Given the description of an element on the screen output the (x, y) to click on. 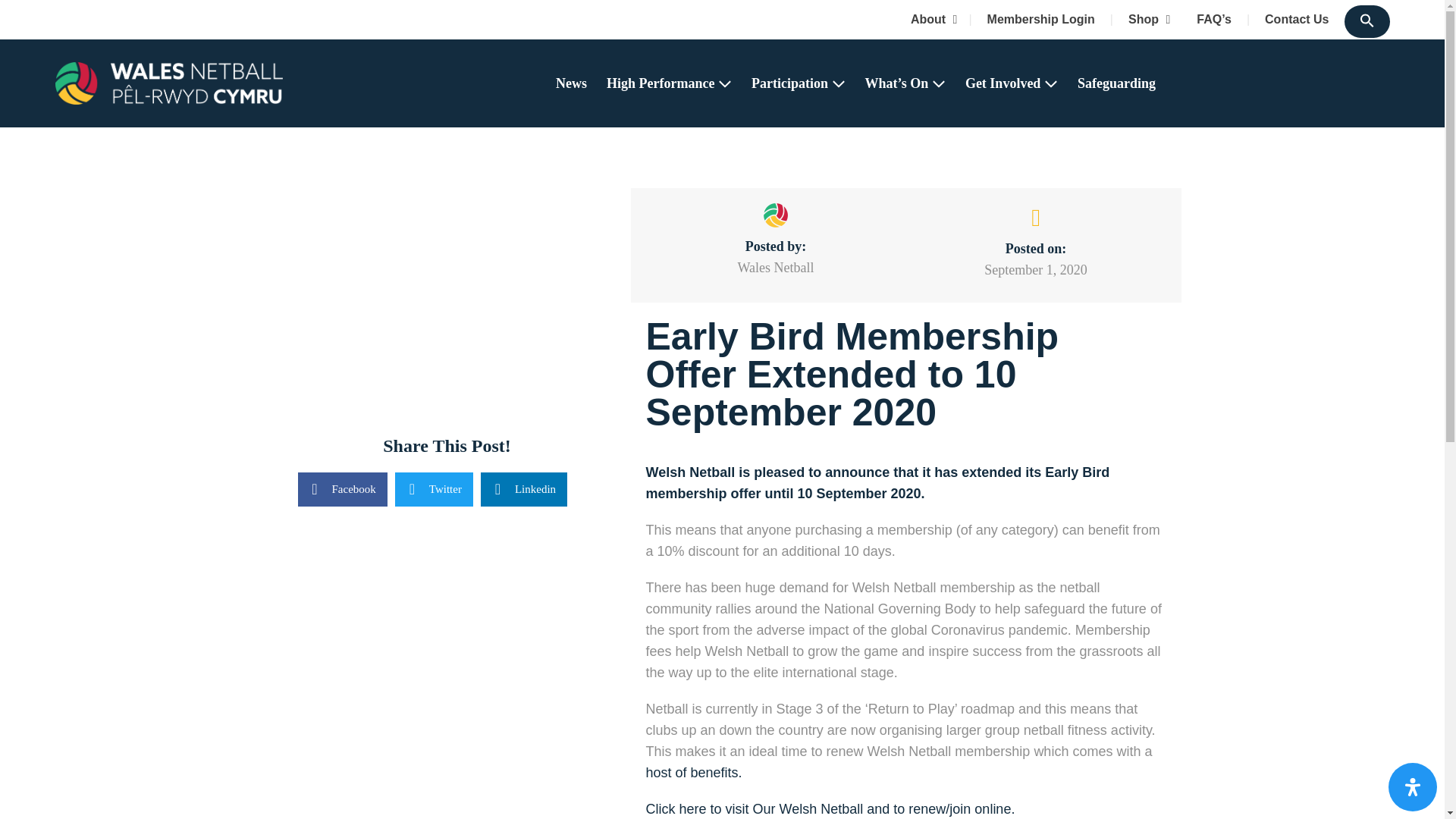
Membership Login (1038, 19)
News (571, 83)
About (932, 19)
Wales Netball (168, 83)
Shop (1144, 19)
High Performance (668, 83)
Contact Us (1294, 19)
